Given the description of an element on the screen output the (x, y) to click on. 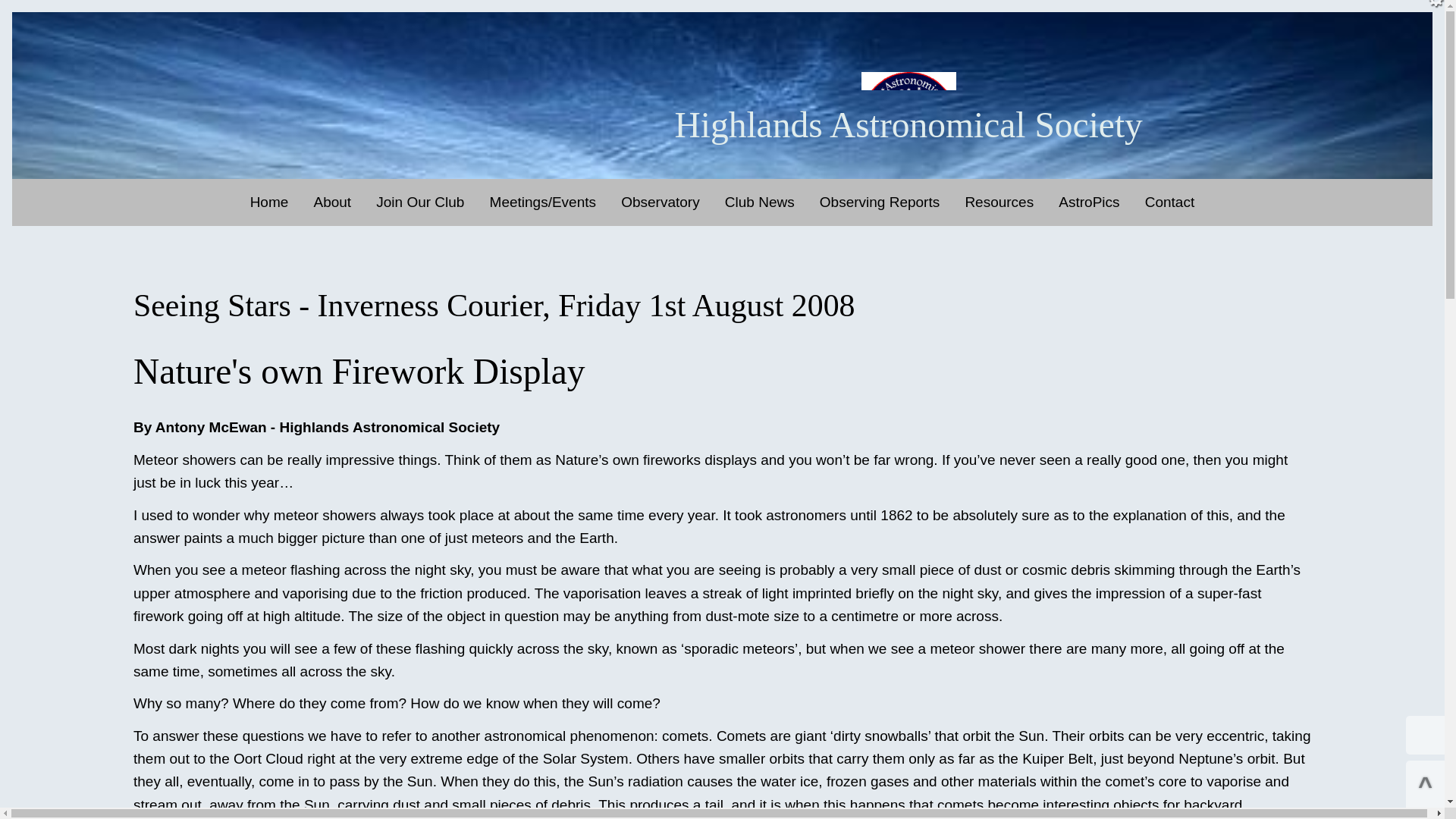
JSL Observatory Info (686, 239)
Aurora Gallery (1123, 239)
Contact (1169, 202)
AstroPics (1088, 202)
Observing Reports (880, 202)
Skip to Main Content (721, 12)
About (331, 202)
Society Activities (377, 239)
Resources (998, 202)
Home (269, 202)
Join Our Club (420, 202)
Observatory (659, 202)
Club News (759, 202)
Documentation (1030, 239)
